Given the description of an element on the screen output the (x, y) to click on. 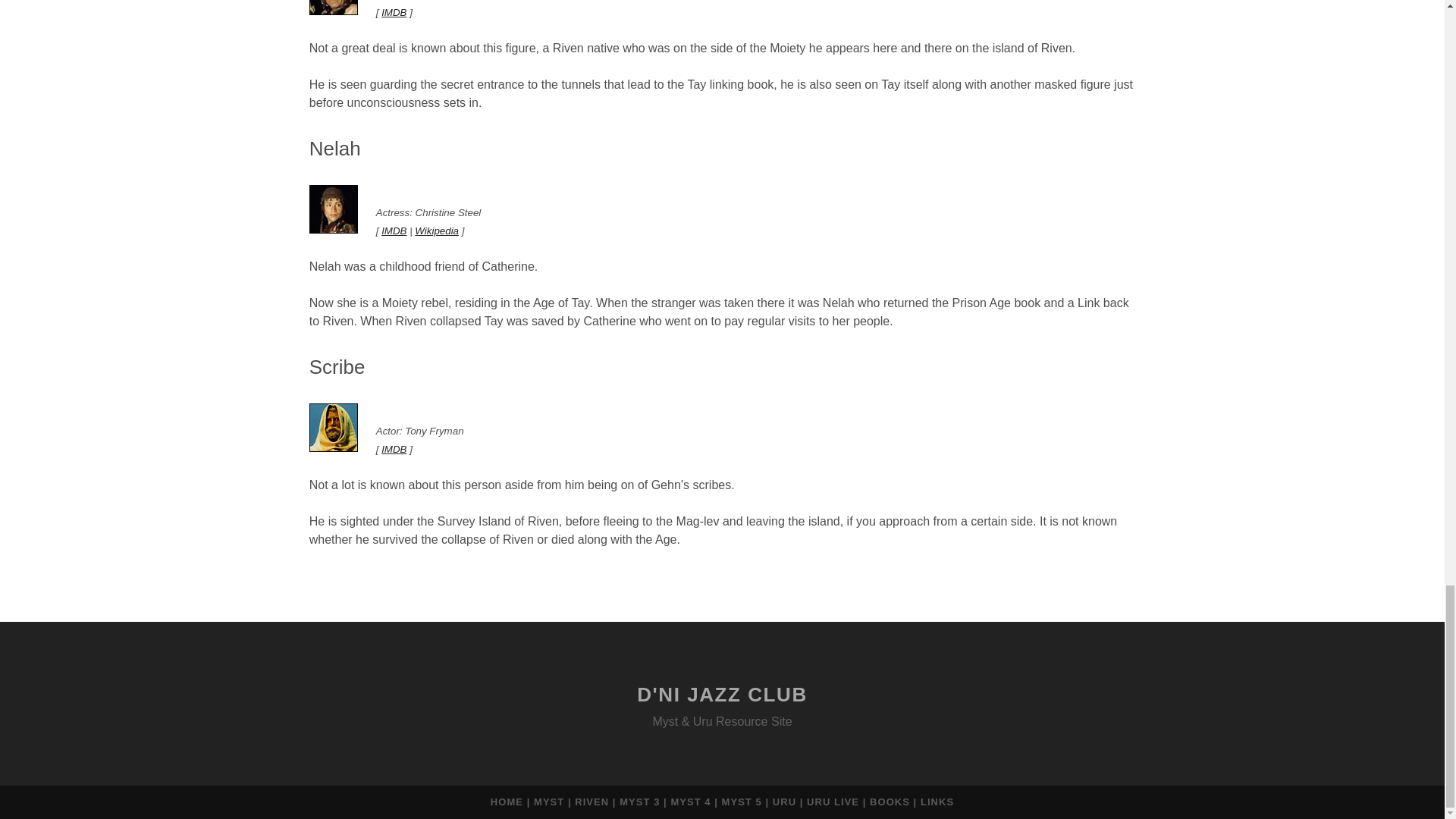
Ernie Whitecloud on Internet Movie Database (393, 12)
Christine Steel on Internet Movie Database (393, 230)
